Given the description of an element on the screen output the (x, y) to click on. 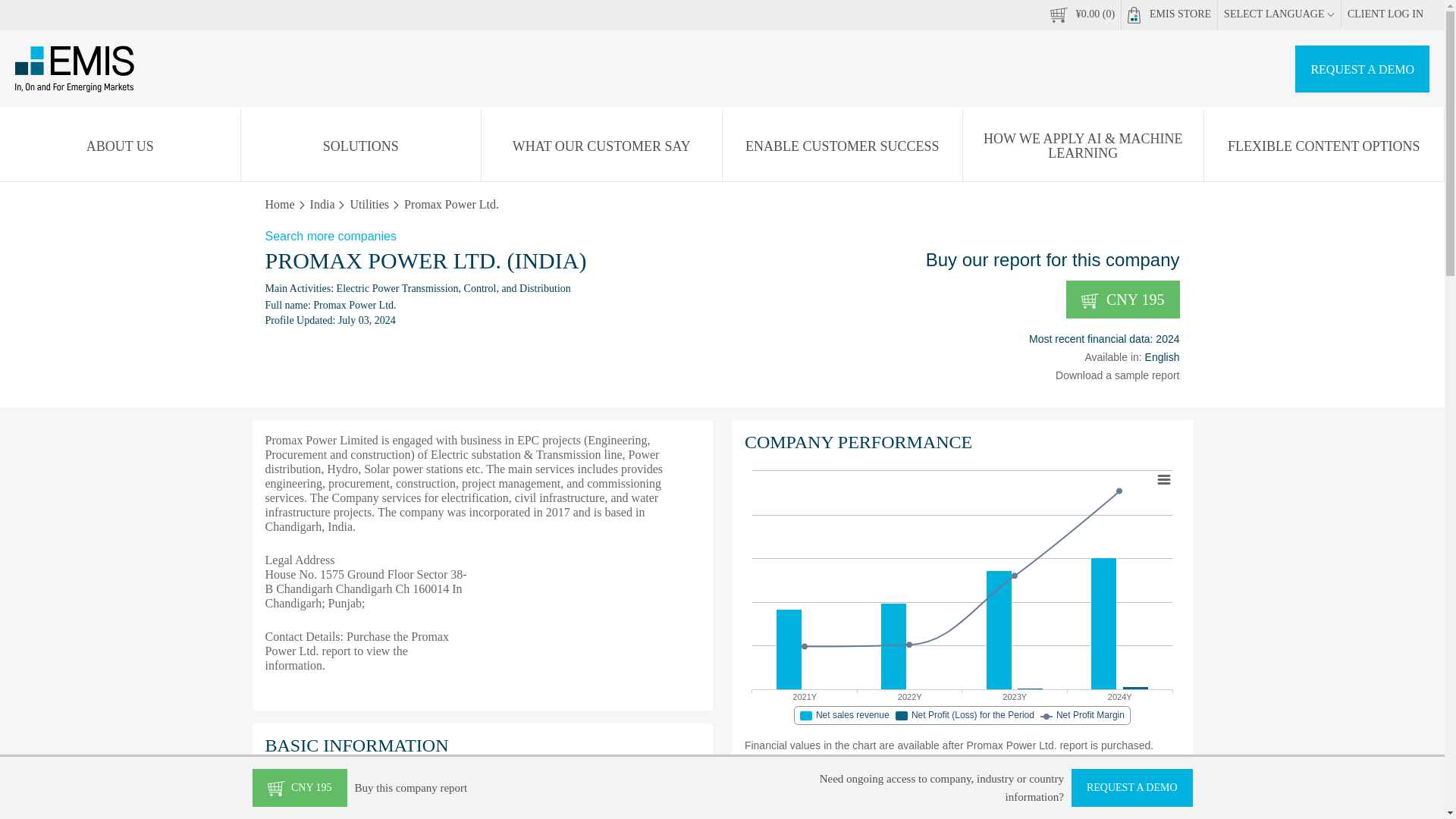
India (322, 204)
Chart context menu (1163, 479)
Home (279, 204)
Utilities (368, 204)
Search more companies (721, 236)
REQUEST A DEMO (1362, 68)
CNY 195 (1122, 299)
SELECT LANGUAGE (1278, 13)
Download a sample report (1117, 375)
Enable Customer Success (842, 145)
CLIENT LOG IN (1384, 13)
ENABLE CUSTOMER SUCCESS (842, 145)
EMIS STORE (1169, 15)
SOLUTIONS (961, 599)
